Given the description of an element on the screen output the (x, y) to click on. 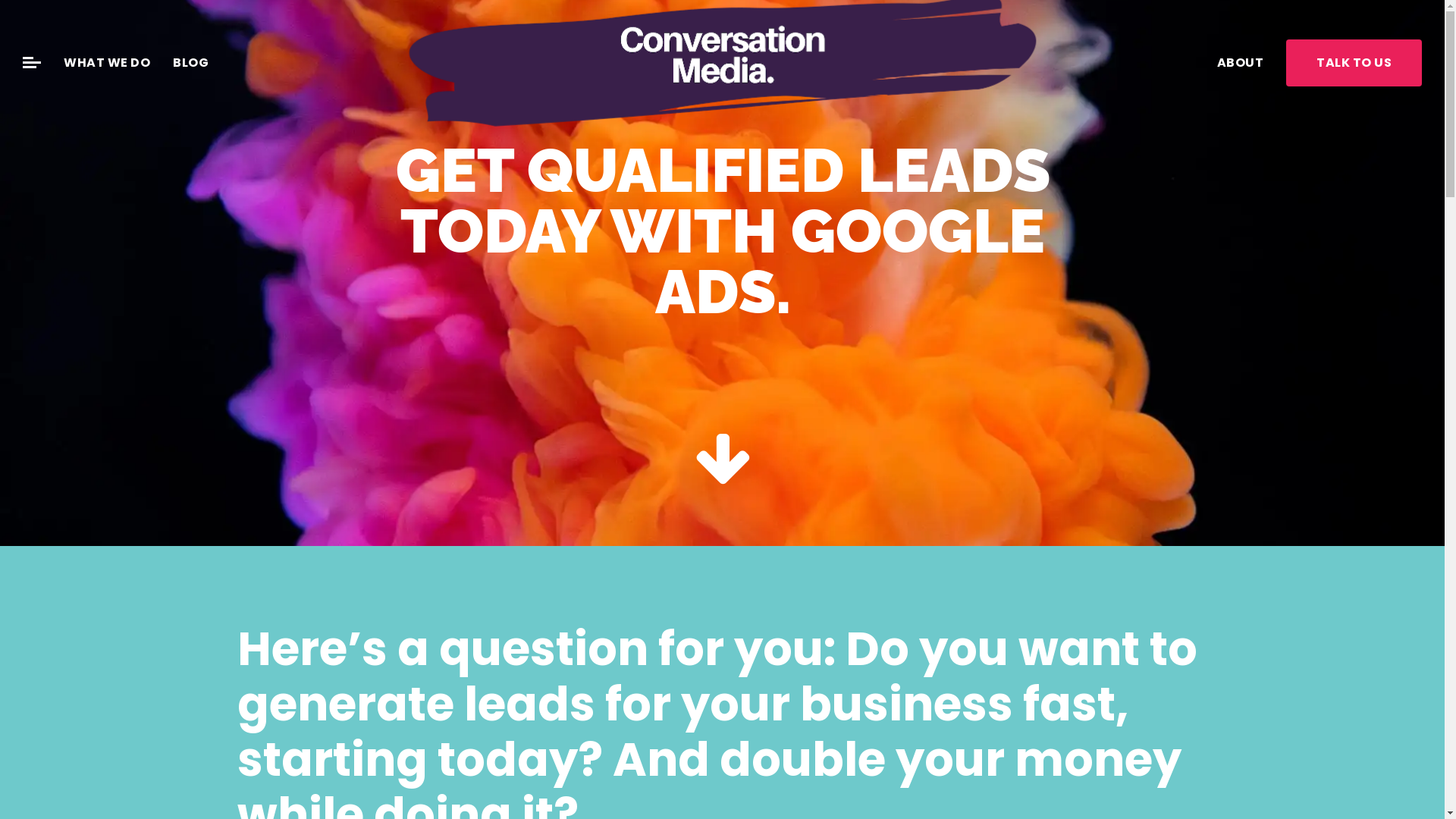
WHAT WE DO Element type: text (106, 62)
TALK TO US Element type: text (1353, 62)
BLOG Element type: text (190, 62)
Search Element type: text (176, 60)
ABOUT Element type: text (1239, 62)
